Given the description of an element on the screen output the (x, y) to click on. 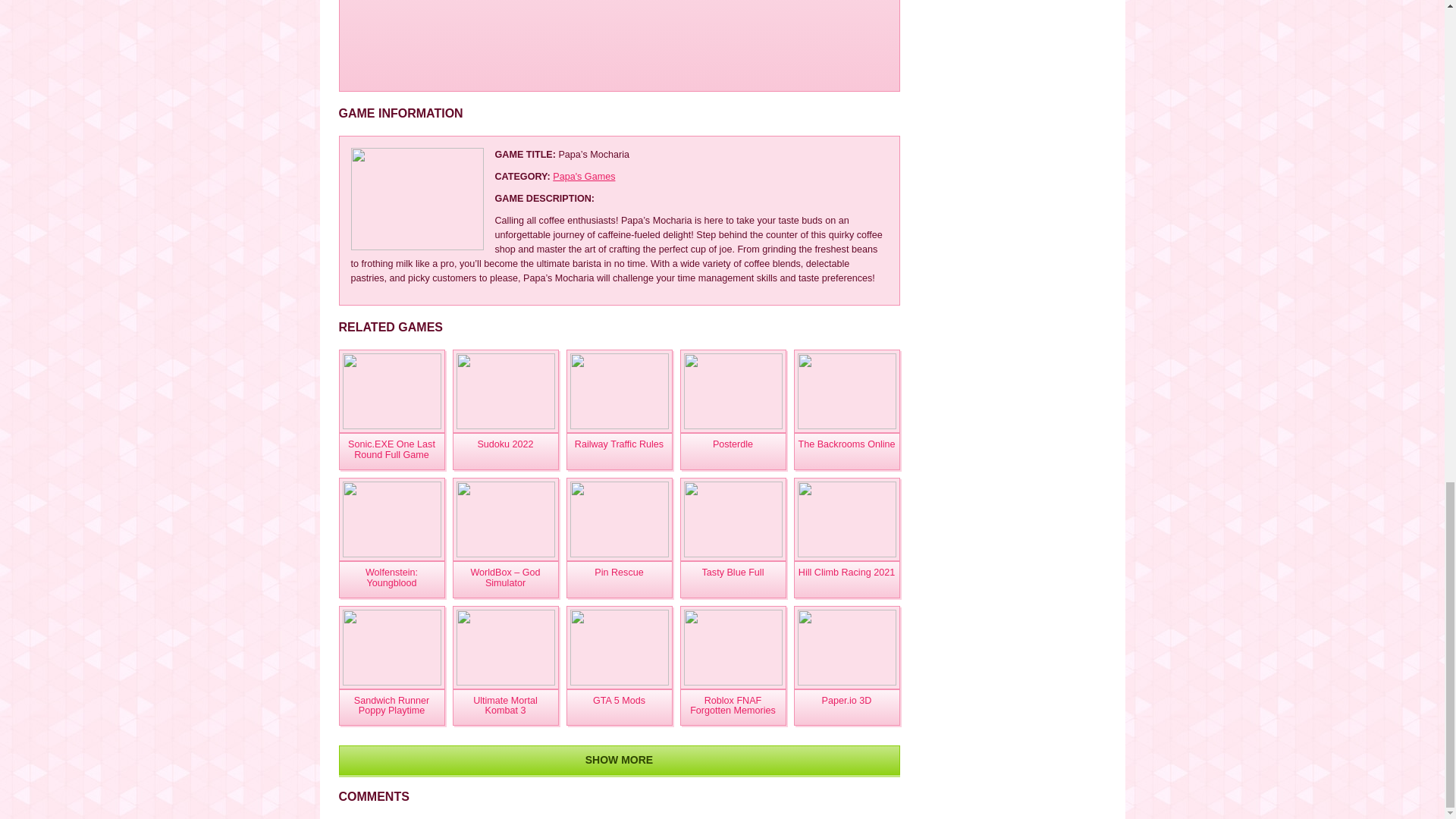
The Backrooms Online (846, 451)
Wolfenstein: Youngblood (390, 519)
Pin Rescue (618, 579)
Railway Traffic Rules (618, 391)
Sudoku 2022 (504, 391)
Posterdle (732, 391)
Sonic.EXE One Last Round Full Game (390, 391)
Tasty Blue Full (732, 579)
Sonic.EXE One Last Round Full Game (390, 451)
Posterdle (732, 451)
Posterdle (732, 451)
Sudoku 2022 (504, 451)
Railway Traffic Rules (618, 451)
Hill Climb Racing 2021 (846, 579)
The Backrooms Online (846, 451)
